Given the description of an element on the screen output the (x, y) to click on. 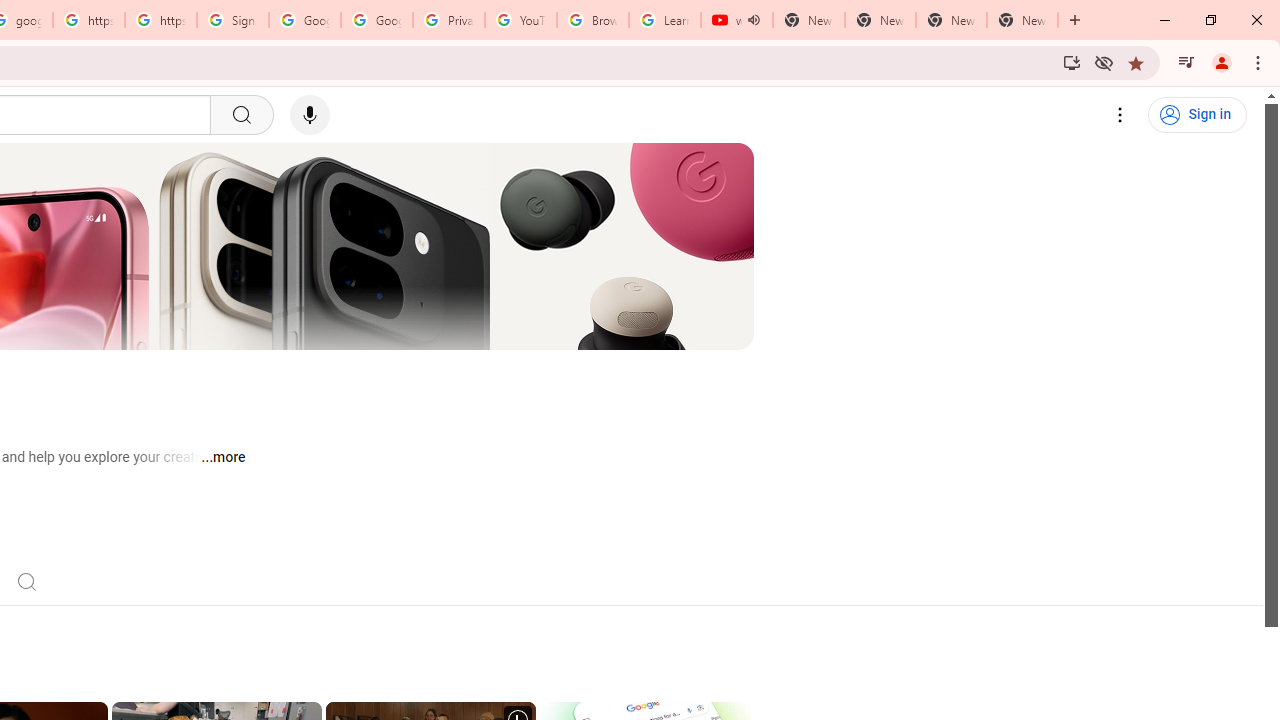
Search with your voice (309, 115)
Sign in - Google Accounts (232, 20)
New Tab (1022, 20)
